Given the description of an element on the screen output the (x, y) to click on. 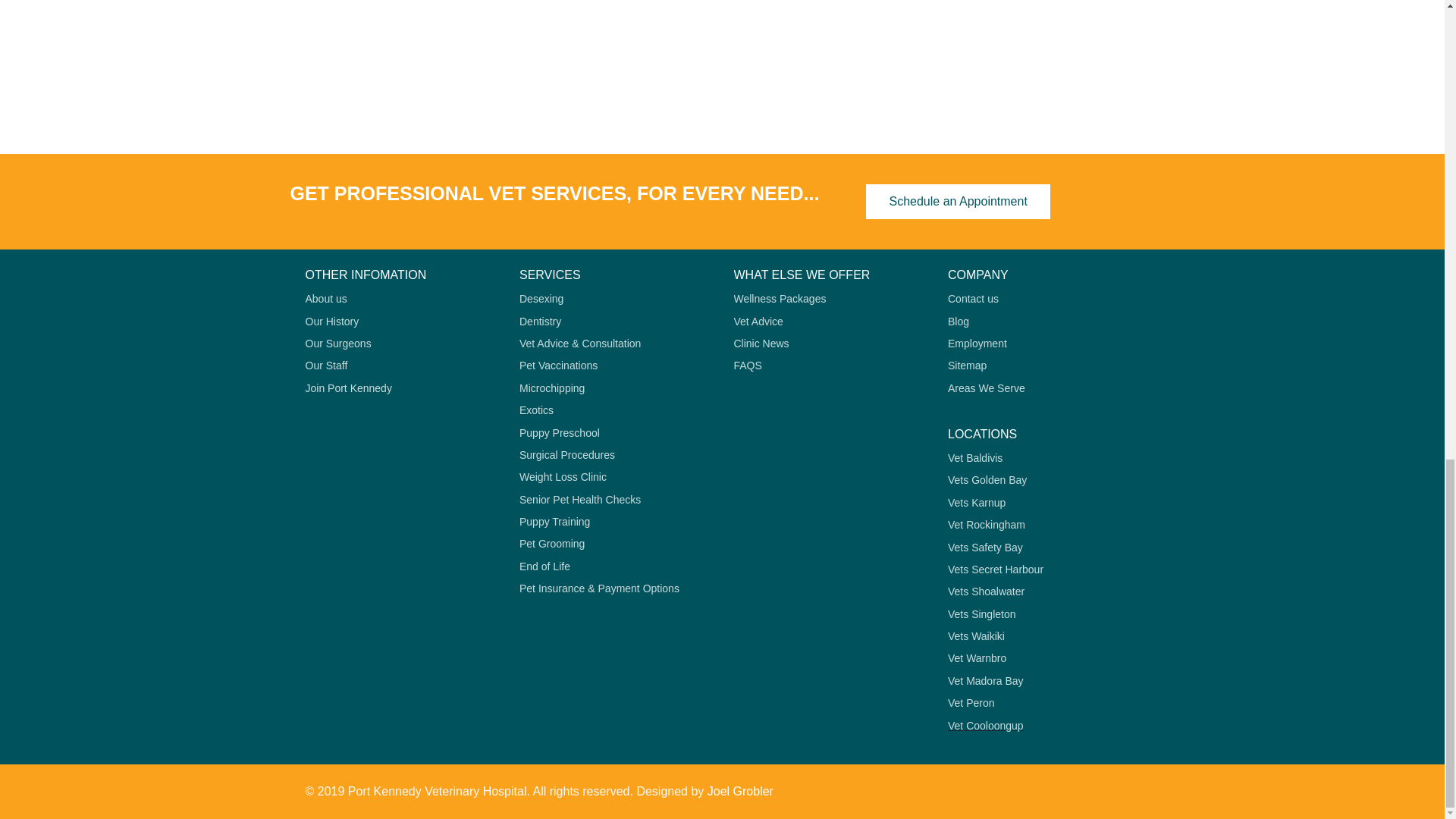
Schedule an Appointment (957, 201)
Our History (400, 321)
Our Surgeons (400, 343)
About us (400, 299)
Cooloongup (721, 76)
